Given the description of an element on the screen output the (x, y) to click on. 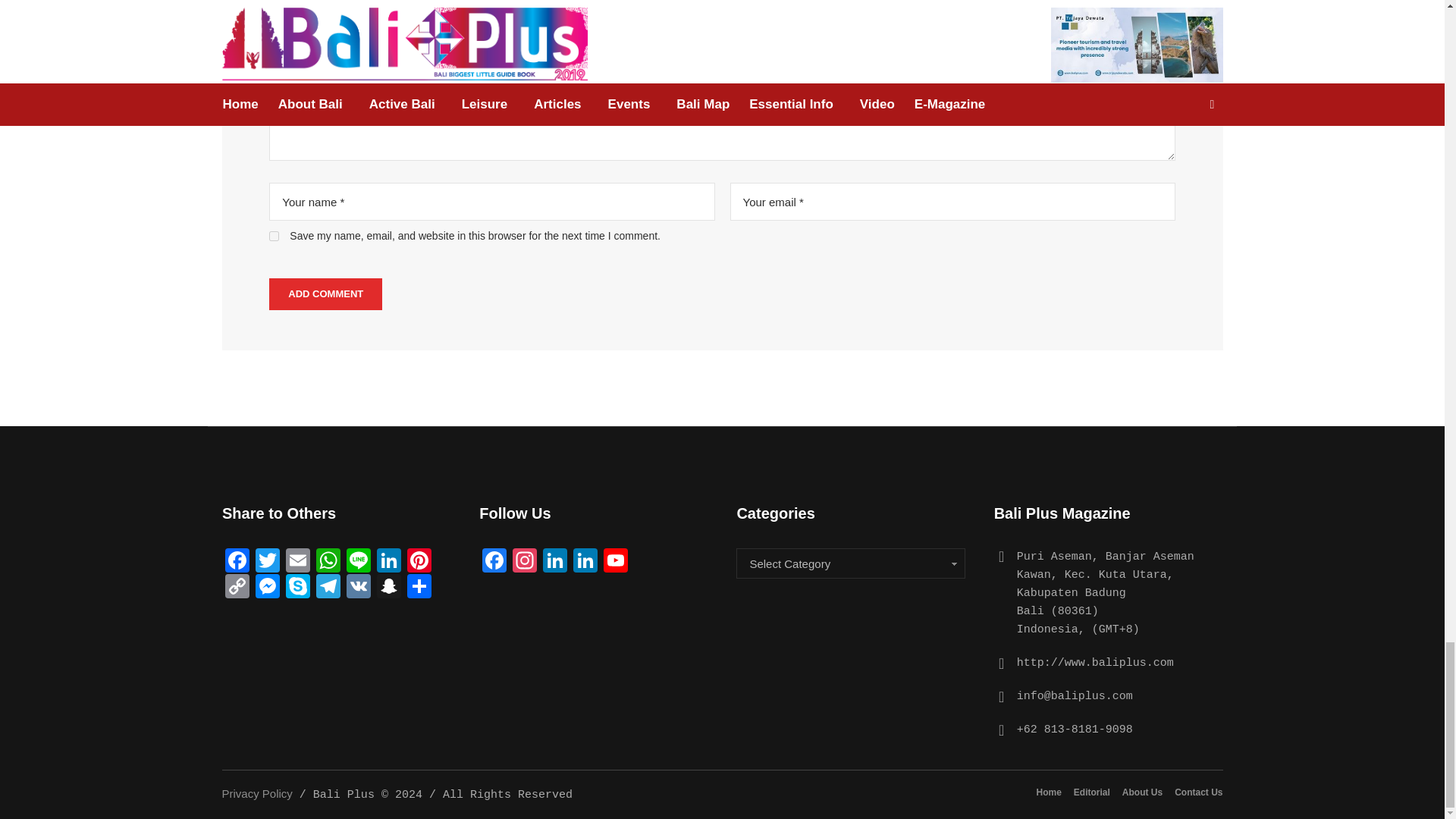
Facebook (236, 560)
Email (297, 560)
Line (358, 560)
yes (274, 235)
WhatsApp (328, 560)
Twitter (266, 560)
Add Comment (325, 294)
LinkedIn (389, 560)
